Given the description of an element on the screen output the (x, y) to click on. 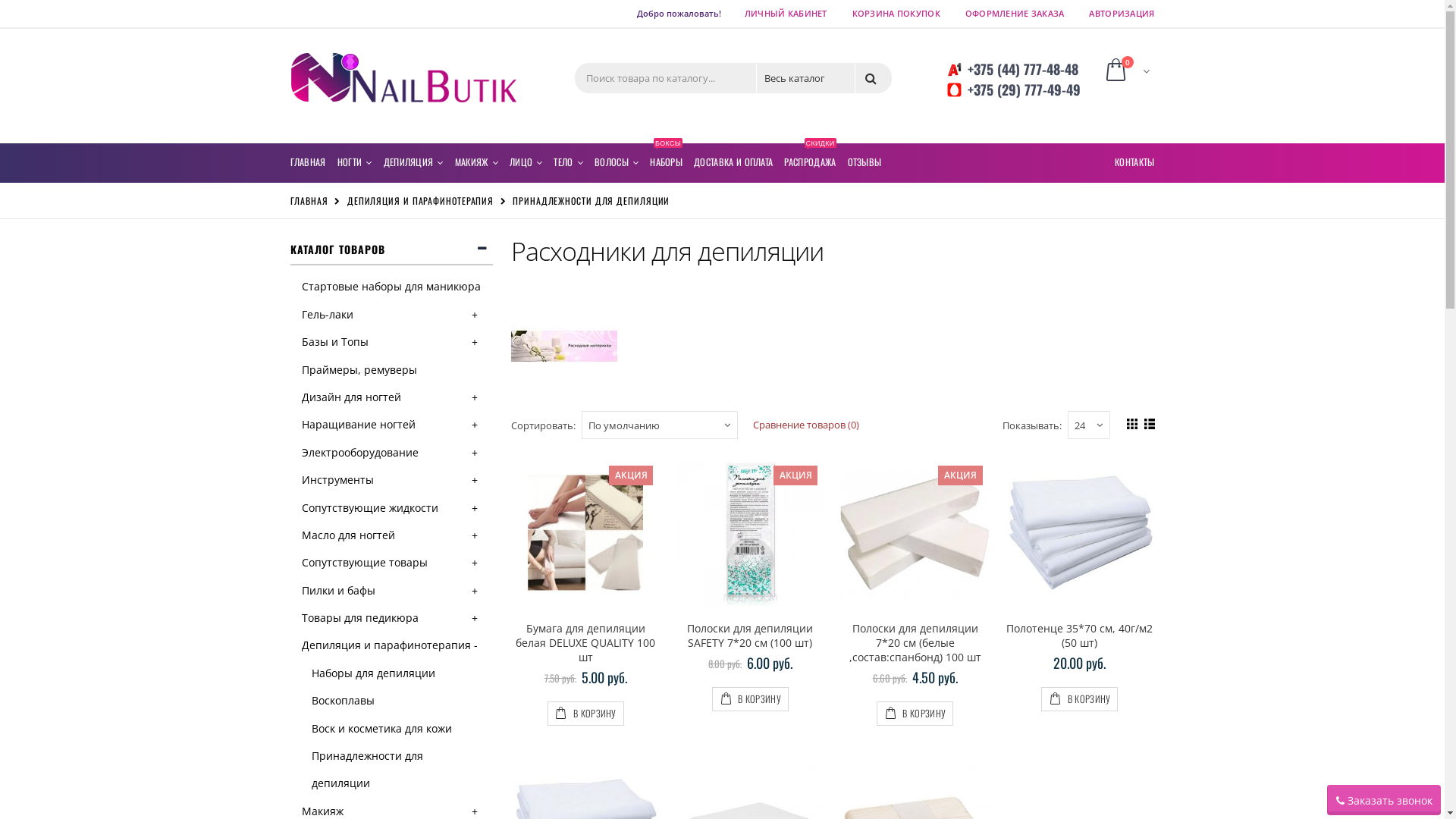
+ Element type: text (476, 507)
+ Element type: text (476, 314)
Search Element type: hover (873, 77)
+ Element type: text (476, 590)
+ Element type: text (476, 617)
+ Element type: text (476, 479)
+ Element type: text (476, 424)
- Element type: text (476, 644)
+ Element type: text (476, 535)
+ Element type: text (476, 397)
+ Element type: text (476, 562)
Grid Element type: hover (1129, 422)
List Element type: hover (1147, 422)
+ Element type: text (476, 341)
+ Element type: text (476, 452)
